Given the description of an element on the screen output the (x, y) to click on. 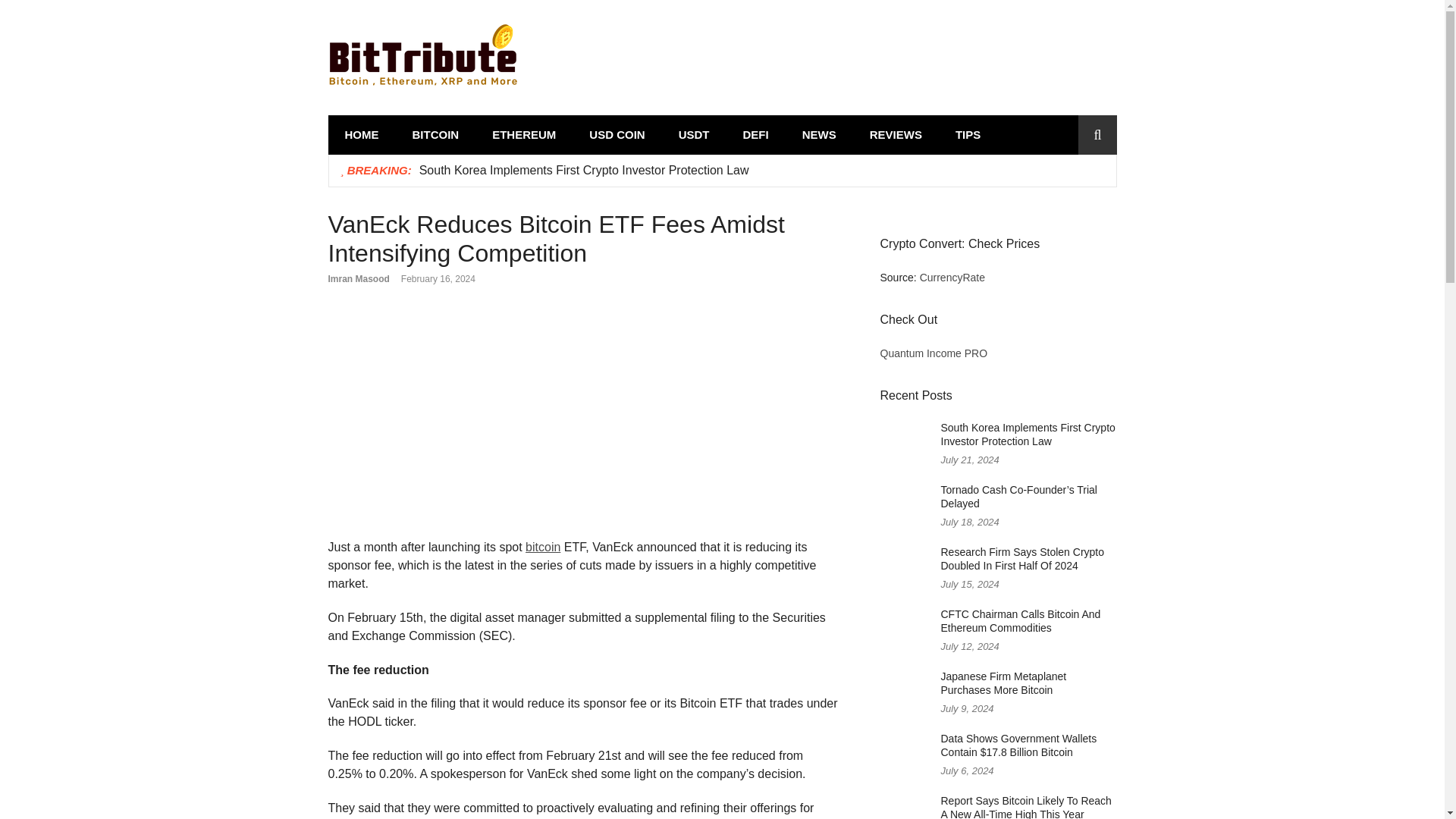
South Korea Implements First Crypto Investor Protection Law (1027, 434)
Bittribute (403, 105)
REVIEWS (896, 135)
NEWS (819, 135)
Quantum Income PRO (933, 353)
bitcoin (542, 546)
CFTC Chairman Calls Bitcoin And Ethereum Commodities (1020, 621)
DEFI (756, 135)
HOME (360, 135)
CurrencyRate (952, 277)
BITCOIN (436, 135)
South Korea Implements First Crypto Investor Protection Law (584, 169)
South Korea Implements First Crypto Investor Protection Law (584, 169)
USDT (694, 135)
